Given the description of an element on the screen output the (x, y) to click on. 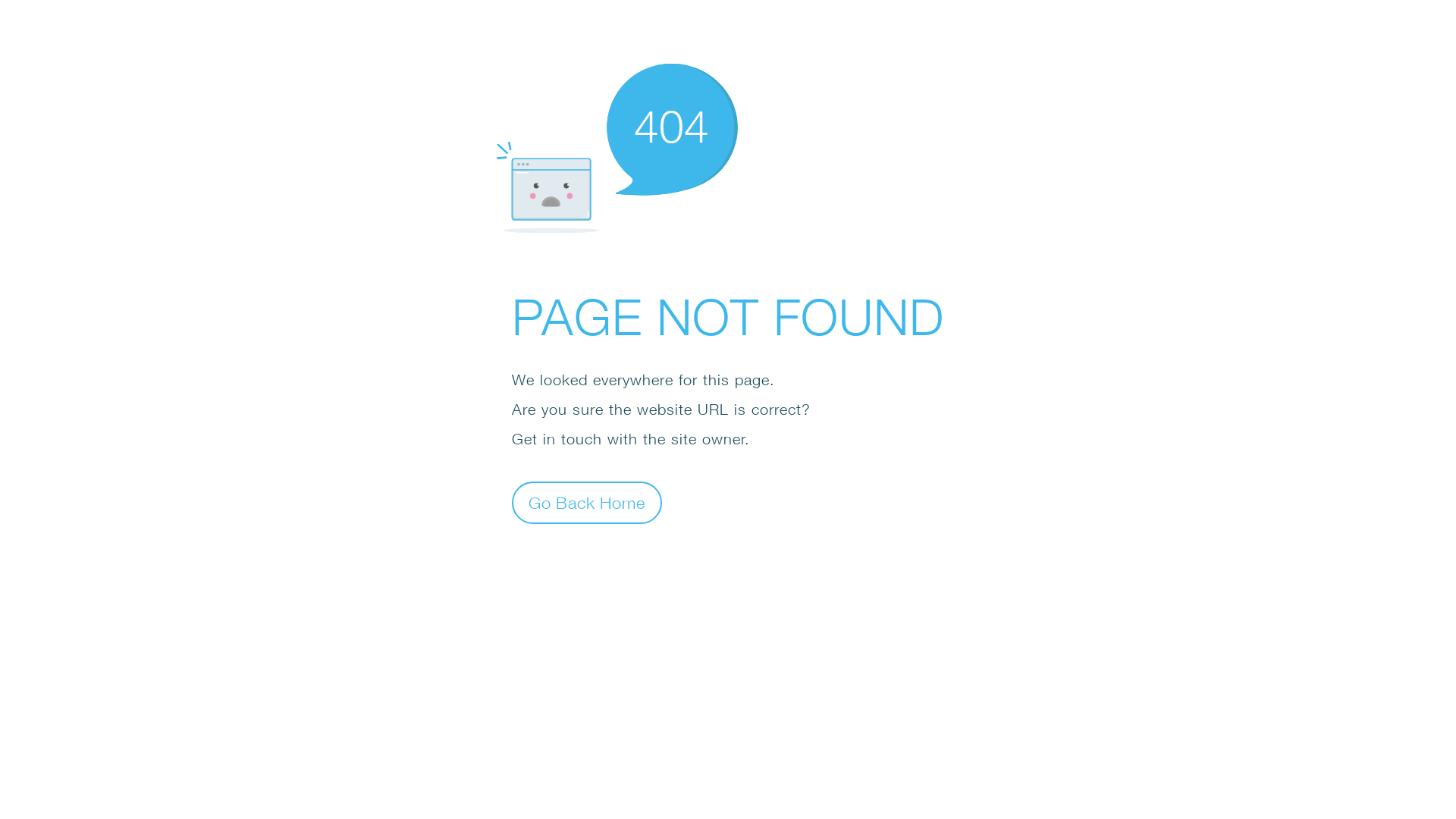
Go Back Home Element type: text (586, 502)
